Given the description of an element on the screen output the (x, y) to click on. 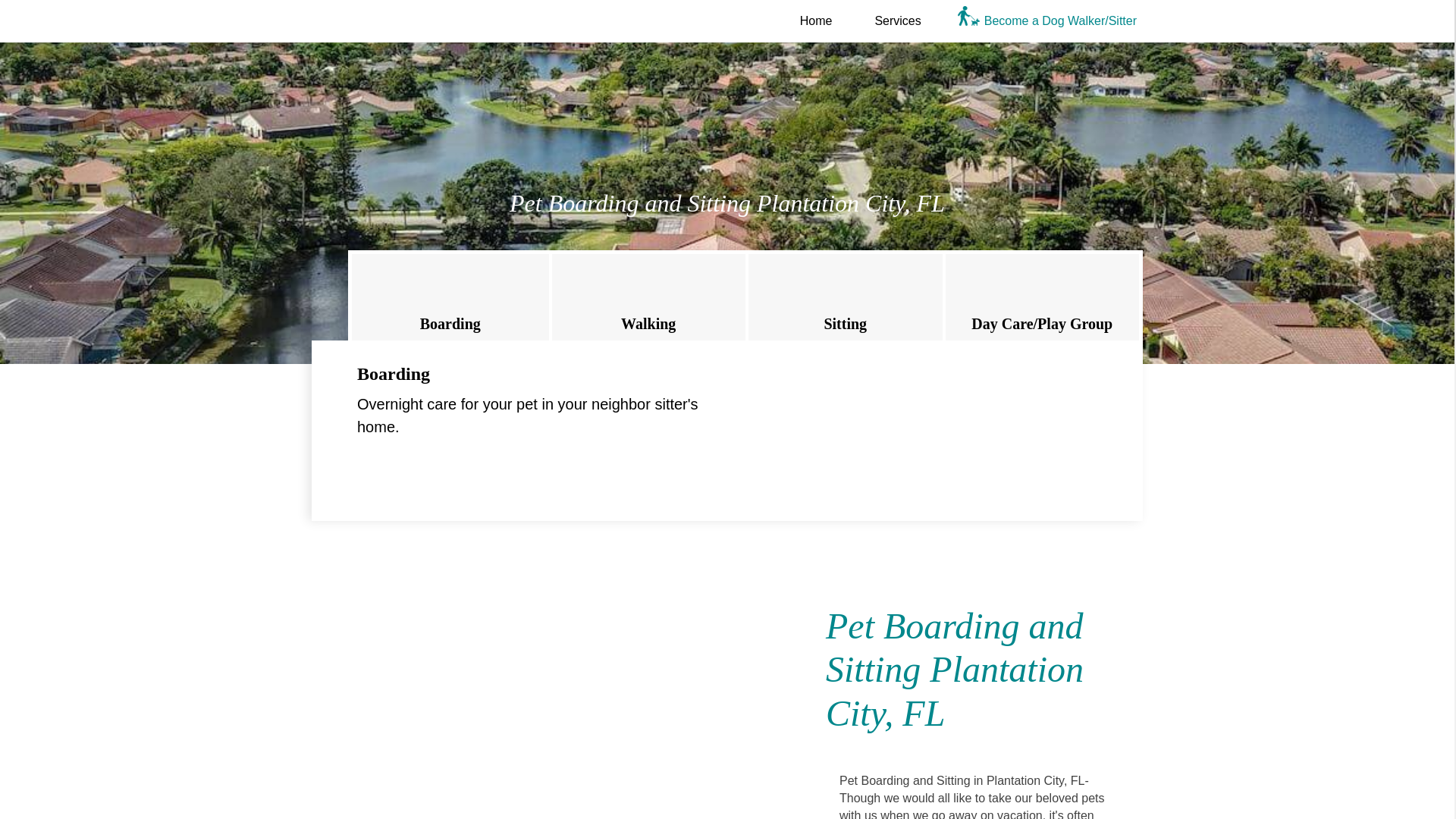
Walking (648, 296)
Services (896, 20)
Boarding (450, 296)
Pet Boarding and Sitting Plantation City, FL (518, 700)
Sitting (845, 296)
